Given the description of an element on the screen output the (x, y) to click on. 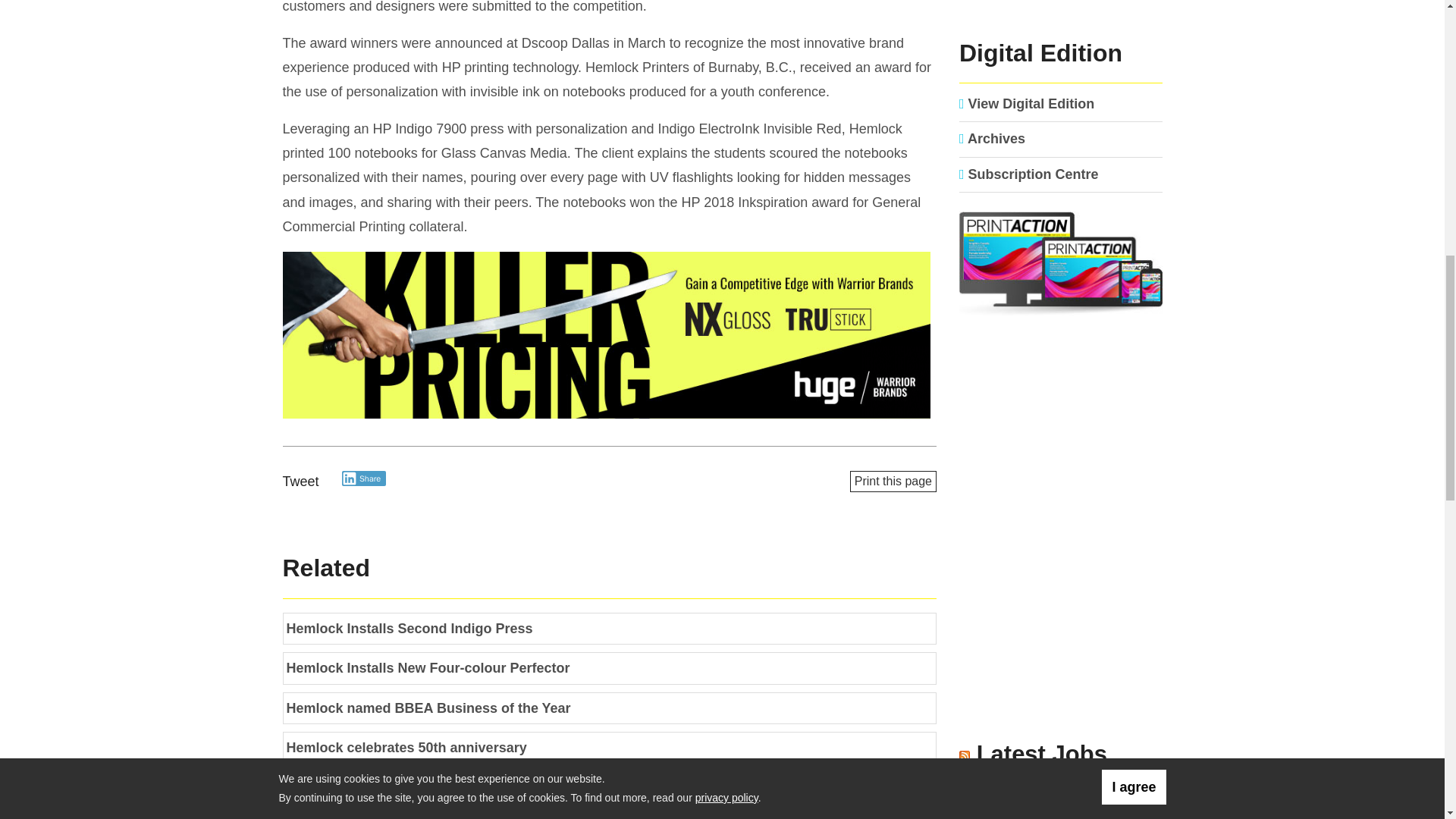
3rd party ad content (1060, 12)
3rd party ad content (1060, 438)
3rd party ad content (609, 336)
3rd party ad content (1060, 635)
